Given the description of an element on the screen output the (x, y) to click on. 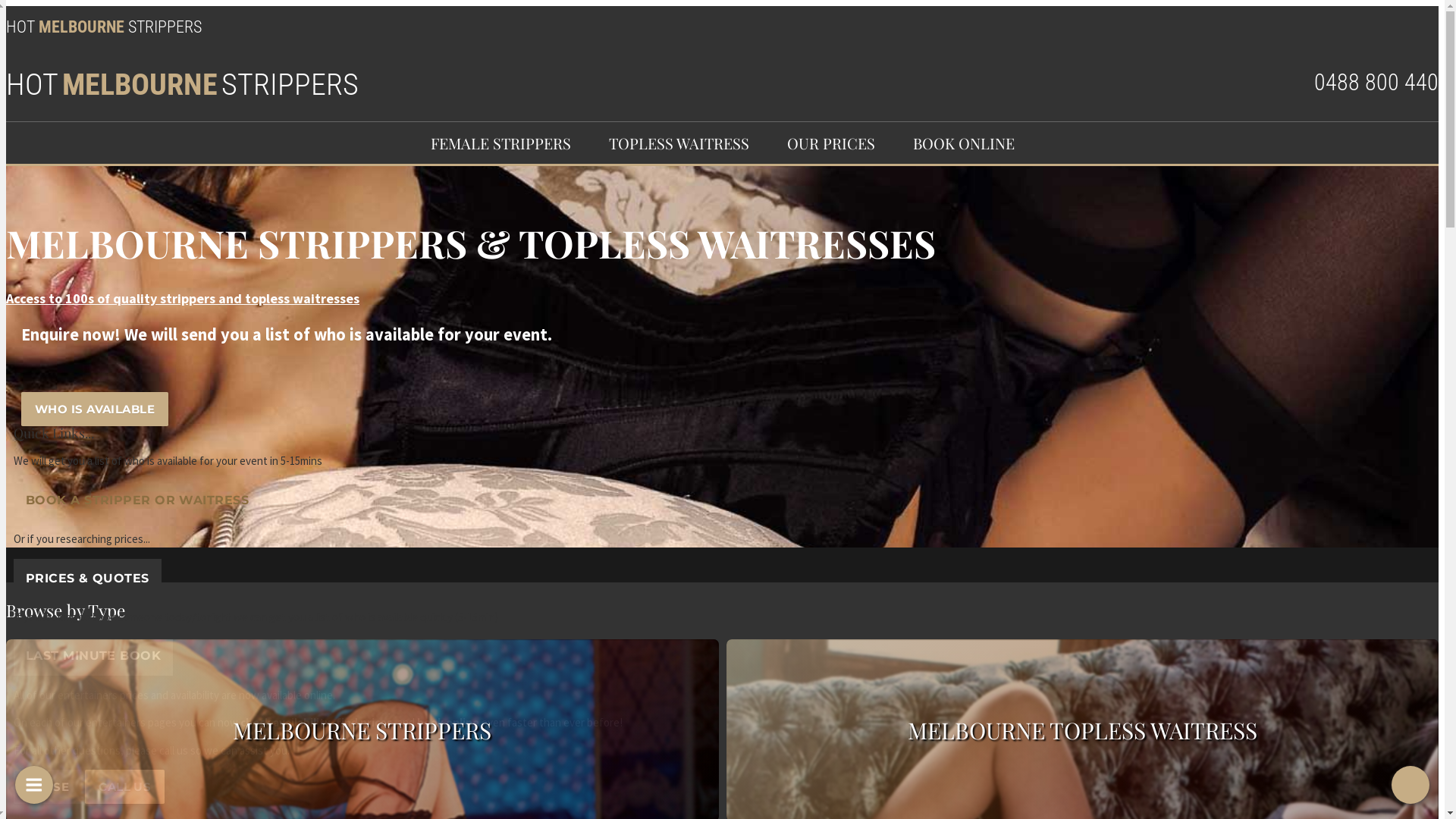
HOTMELBOURNESTRIPPERS Element type: text (182, 84)
PRICES & QUOTES Element type: text (87, 577)
FEMALE STRIPPERS Element type: text (500, 142)
TOPLESS WAITRESS Element type: text (678, 142)
CALL US Element type: text (124, 786)
MELBOURNE TOPLESS WAITRESS Element type: text (1082, 729)
SAME DAY BOOKINGS Element type: text (71, 574)
HOTMELBOURNESTRIPPERS Element type: text (103, 26)
BOOK ONLINE Element type: text (962, 142)
CLOSE Element type: text (47, 786)
Open Menu Element type: text (34, 784)
WHO IS AVAILABLE Element type: text (94, 409)
OUR PRICES Element type: text (830, 142)
BOOK A STRIPPER OR WAITRESS Element type: text (136, 499)
MELBOURNE STRIPPERS Element type: text (361, 729)
LAST MINUTE BOOK Element type: text (92, 655)
